Given the description of an element on the screen output the (x, y) to click on. 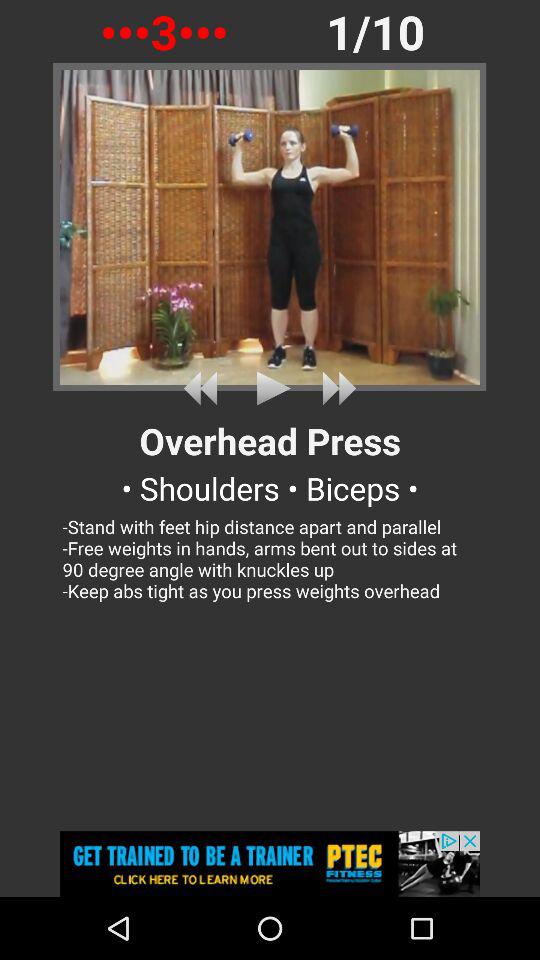
click to view advertisement (270, 864)
